Given the description of an element on the screen output the (x, y) to click on. 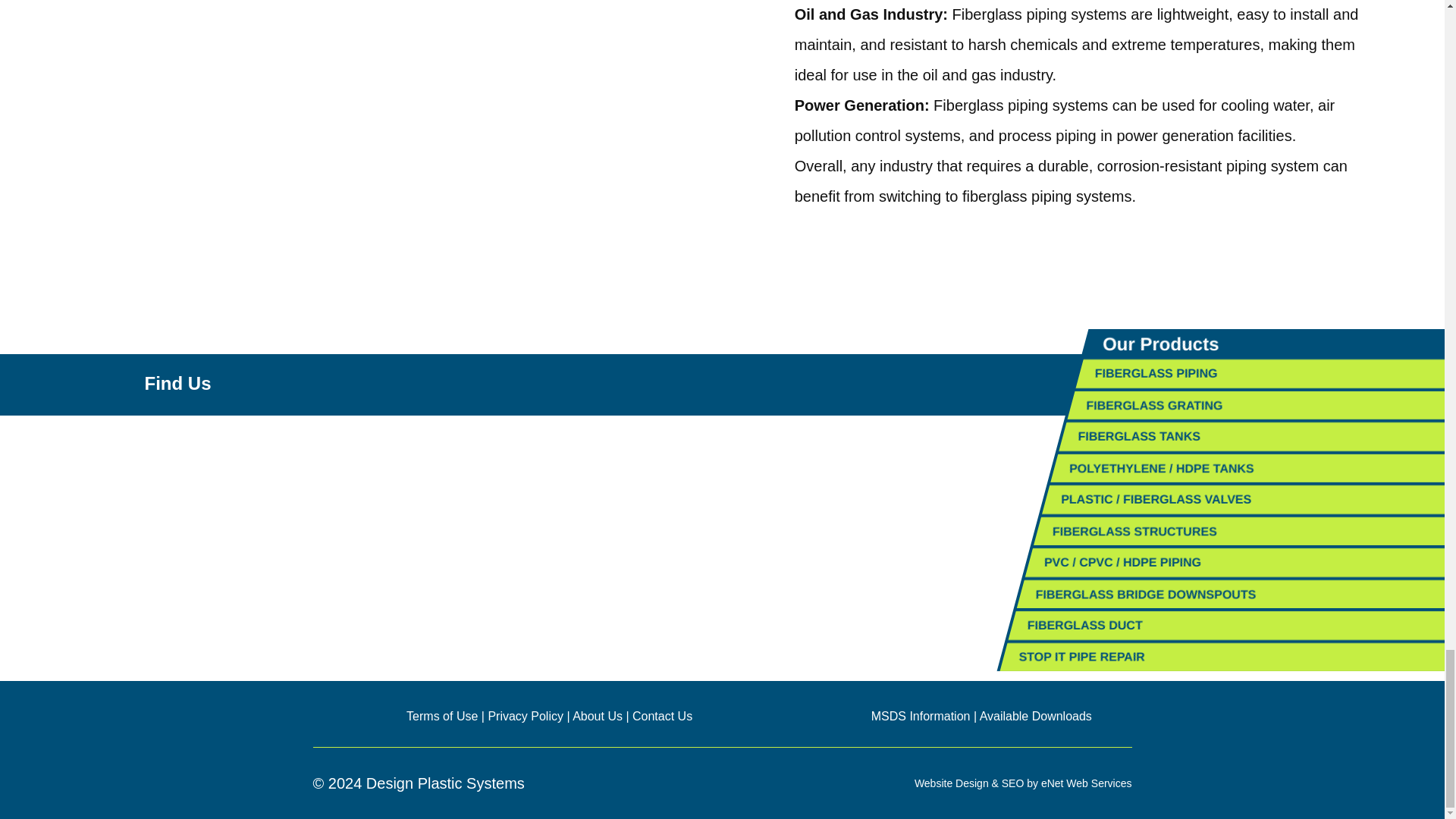
About Us (597, 716)
Contact Us (662, 716)
Terms of Use (441, 716)
Privacy Policy (525, 716)
Available Downloads (1035, 716)
MSDS Information (920, 716)
